Given the description of an element on the screen output the (x, y) to click on. 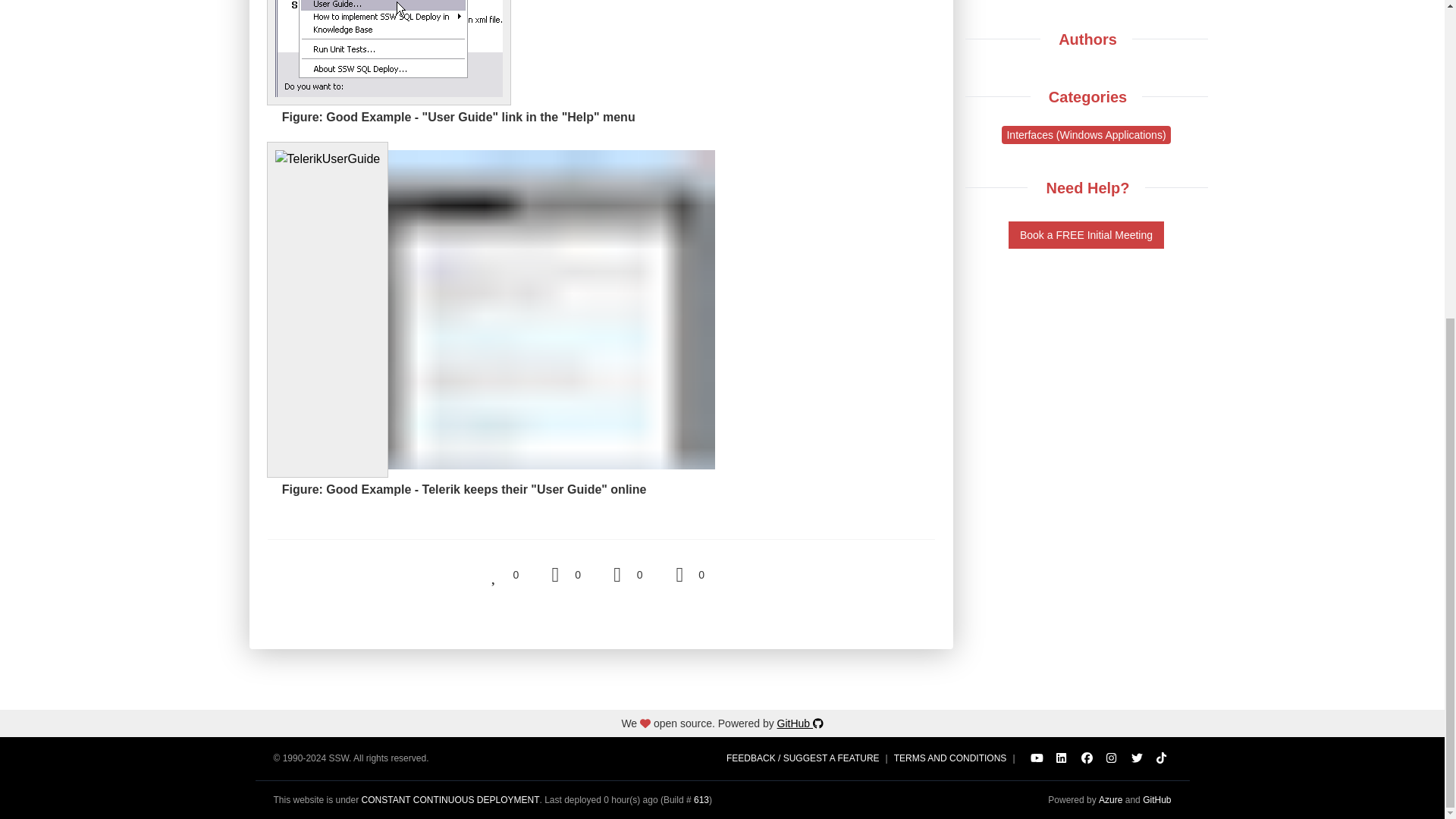
SSW on Instagram (1111, 758)
SSW on Facebook (1086, 758)
SSW on Twitter (1135, 758)
SSW on LinkedIn (1061, 758)
SSW on YouTube (1035, 758)
SSW on TikTok (1162, 758)
